Given the description of an element on the screen output the (x, y) to click on. 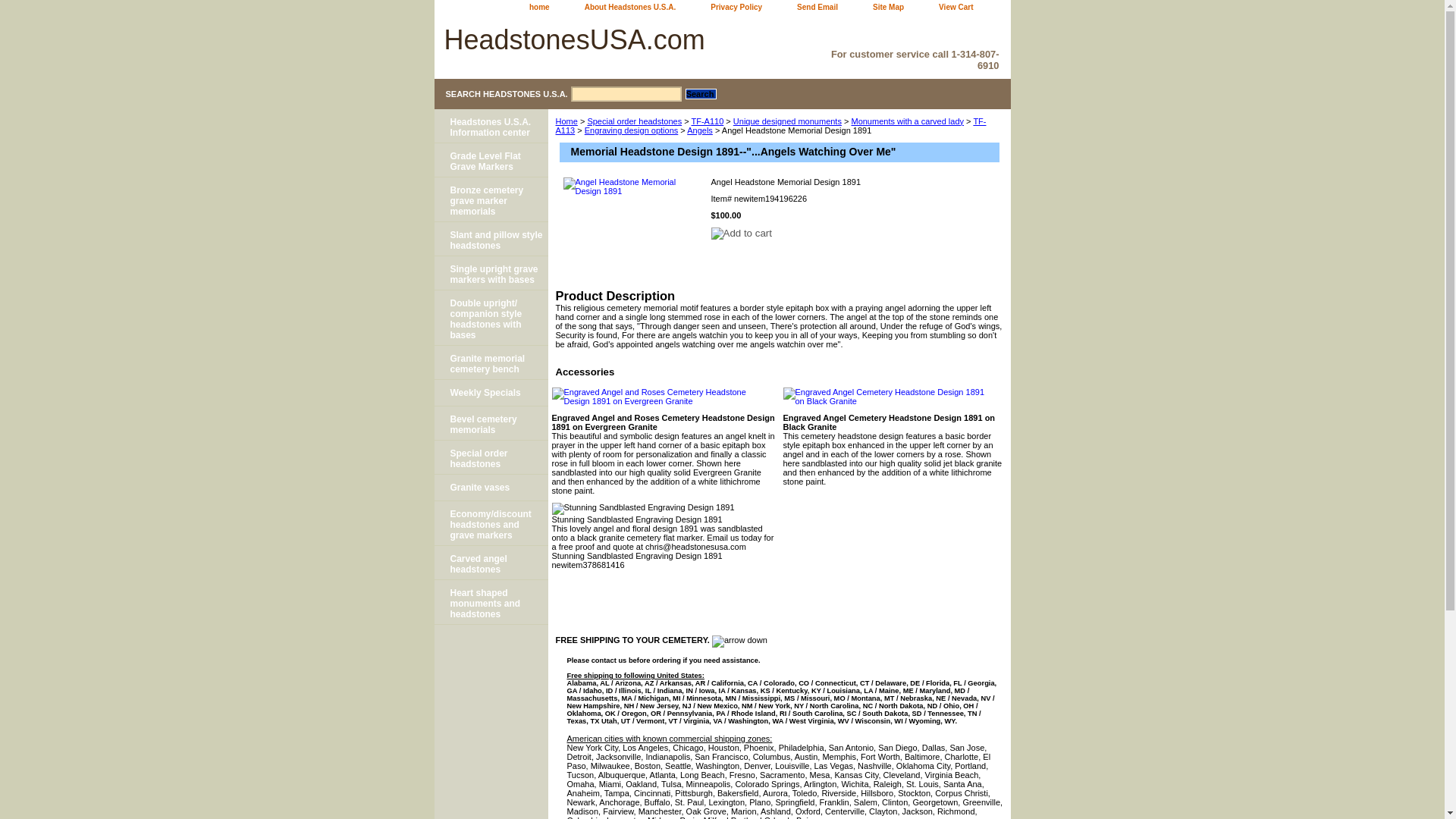
Special order headstones (633, 121)
Granite vases (490, 488)
HeadstonesUSA.com  (622, 41)
Headstones U.S.A. Information center (490, 125)
 Bronze cemetery grave marker memorials (490, 199)
Bronze cemetery grave marker memorials (490, 199)
Heart shaped monuments and headstones (490, 601)
Monuments with a carved lady (906, 121)
Bevel cemetery memorials (490, 423)
Angels (700, 130)
Slant and pillow style headstones   (490, 238)
Slant and pillow style headstones (490, 238)
Granite memorial cemetery bench (490, 362)
